Given the description of an element on the screen output the (x, y) to click on. 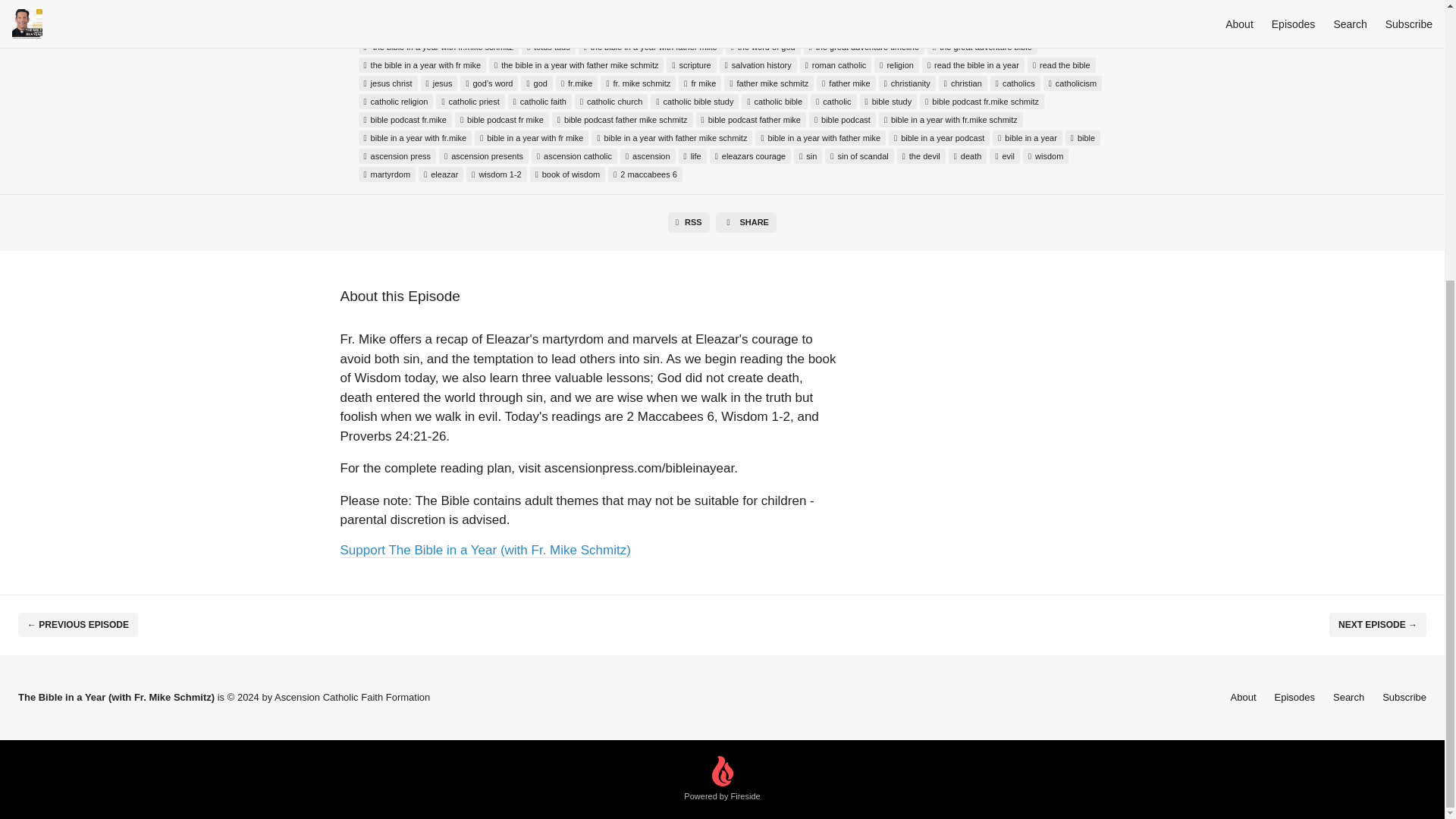
read the bible (1061, 64)
totus tuus (548, 46)
the word of god (762, 46)
the bible in a year with father mike schmitz (576, 64)
jesus (439, 83)
Powered by Fireside (722, 779)
scripture (691, 64)
jesus christ (387, 83)
 the bible in a year with fr.mike schmitz (438, 46)
god (536, 83)
the great adventure bible (981, 46)
read the bible in a year (973, 64)
roman catholic (835, 64)
the bible in a year with father mike (650, 46)
the great adventure timeline (863, 46)
